Given the description of an element on the screen output the (x, y) to click on. 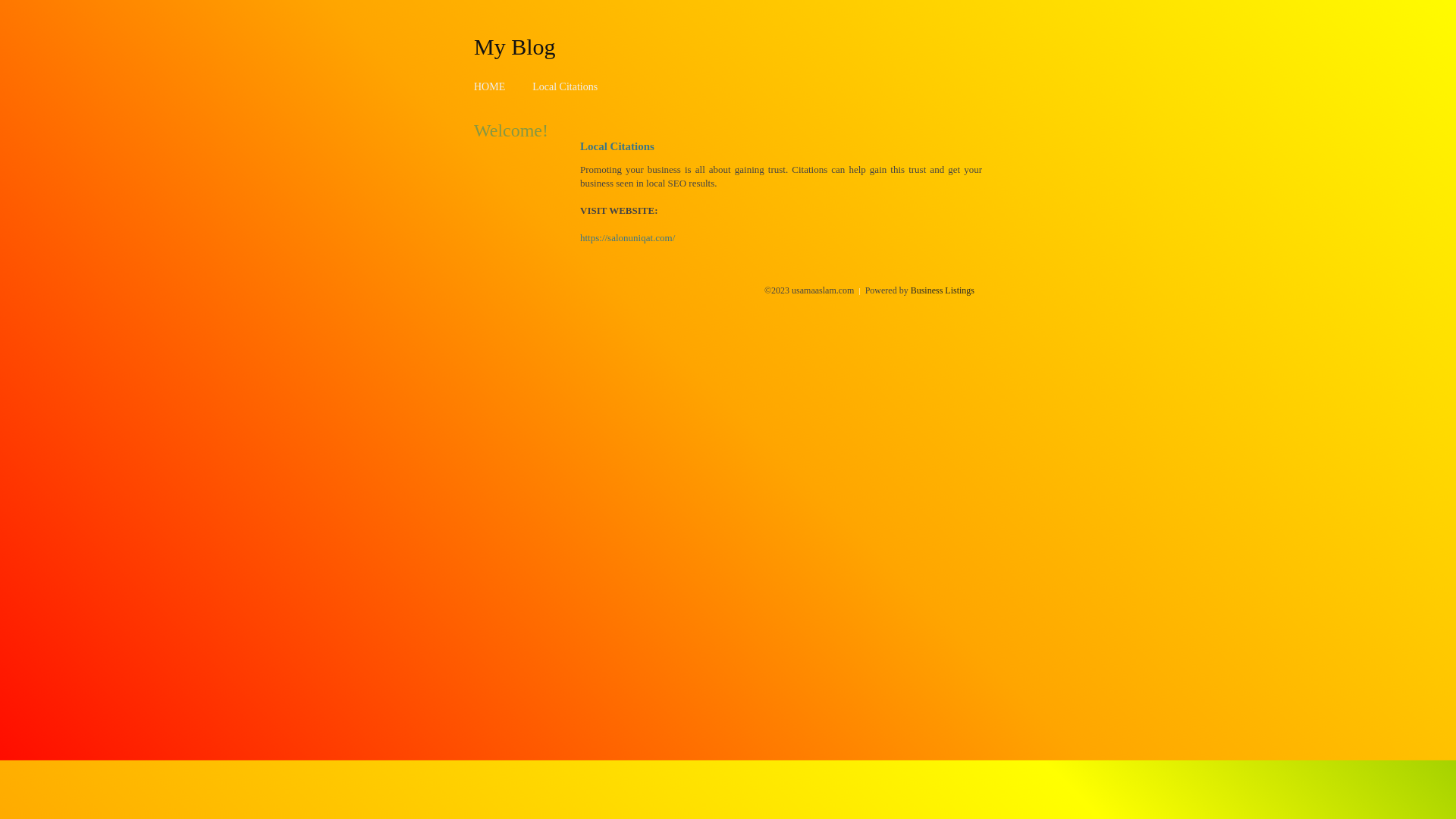
Business Listings Element type: text (942, 290)
My Blog Element type: text (514, 46)
https://salonuniqat.com/ Element type: text (627, 237)
HOME Element type: text (489, 86)
Local Citations Element type: text (564, 86)
